Given the description of an element on the screen output the (x, y) to click on. 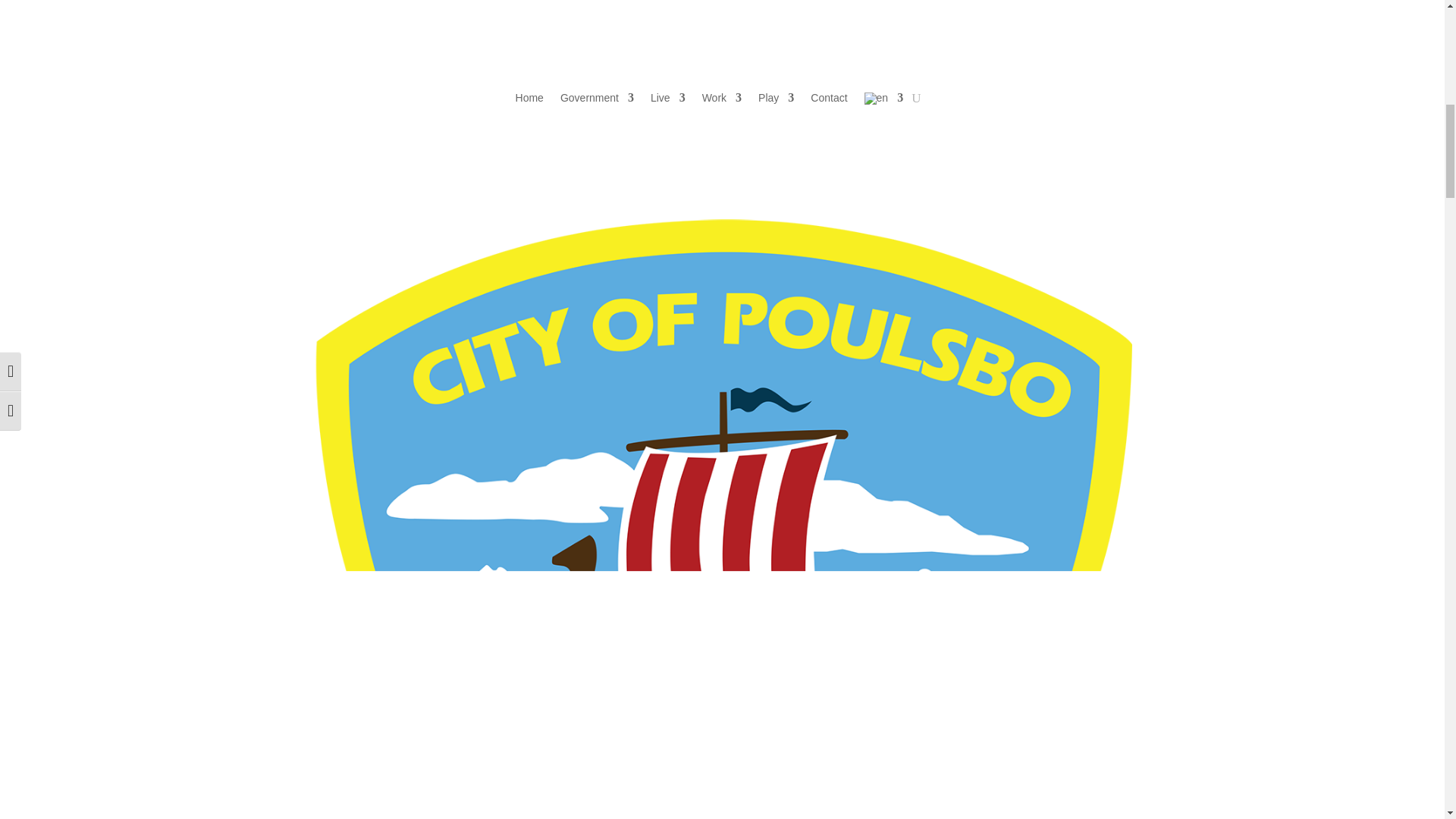
CityofPoulsbo (722, 27)
Home (529, 101)
Government (596, 101)
